Given the description of an element on the screen output the (x, y) to click on. 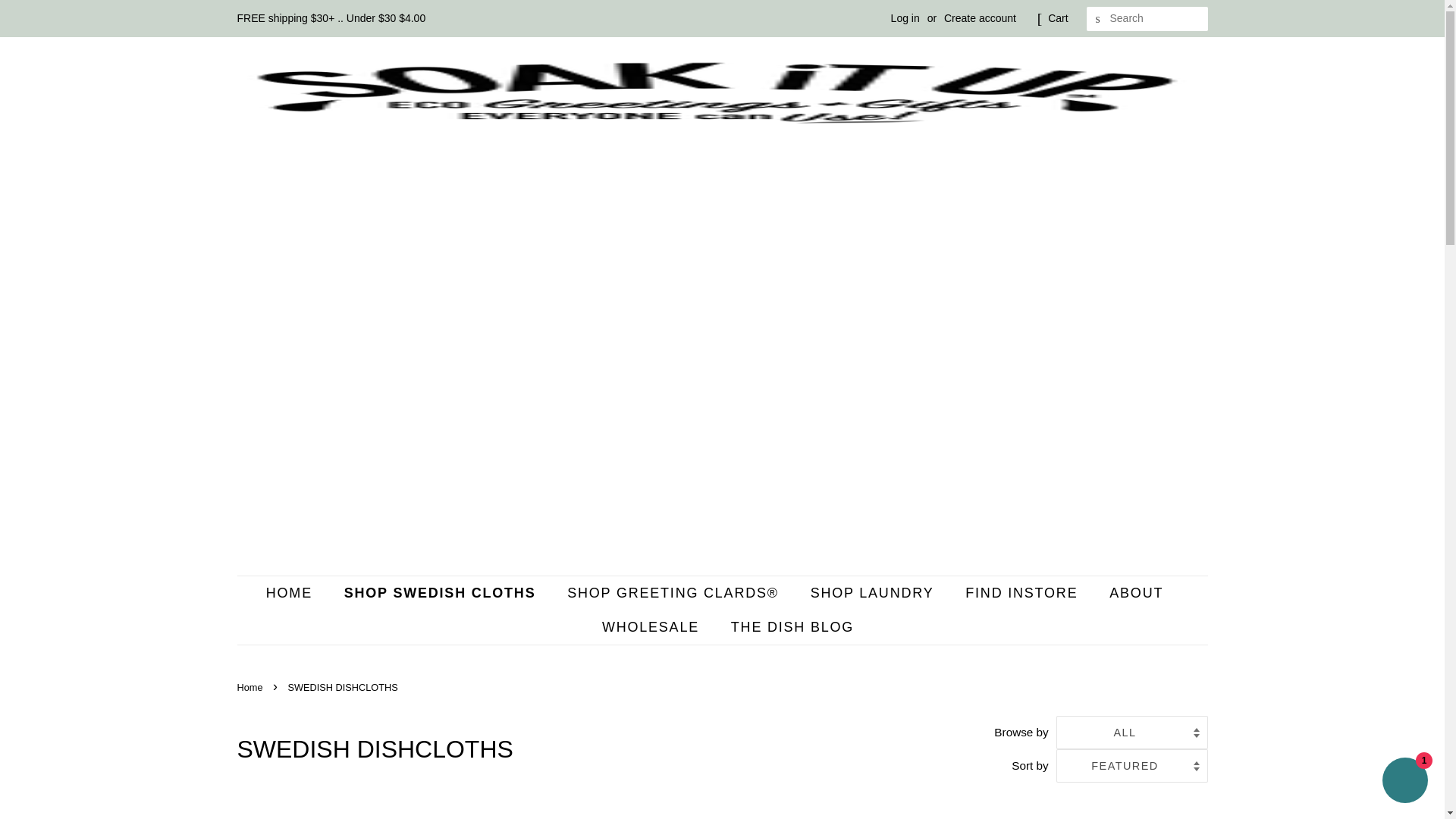
Back to the frontpage (250, 686)
FIND INSTORE (1023, 593)
SEARCH (1097, 18)
Shopify online store chat (1404, 781)
SHOP LAUNDRY (874, 593)
SHOP SWEDISH CLOTHS (442, 593)
HOME (296, 593)
Create account (979, 18)
THE DISH BLOG (786, 627)
Log in (905, 18)
ABOUT (1137, 593)
WHOLESALE (652, 627)
Cart (1057, 18)
Home (250, 686)
